Given the description of an element on the screen output the (x, y) to click on. 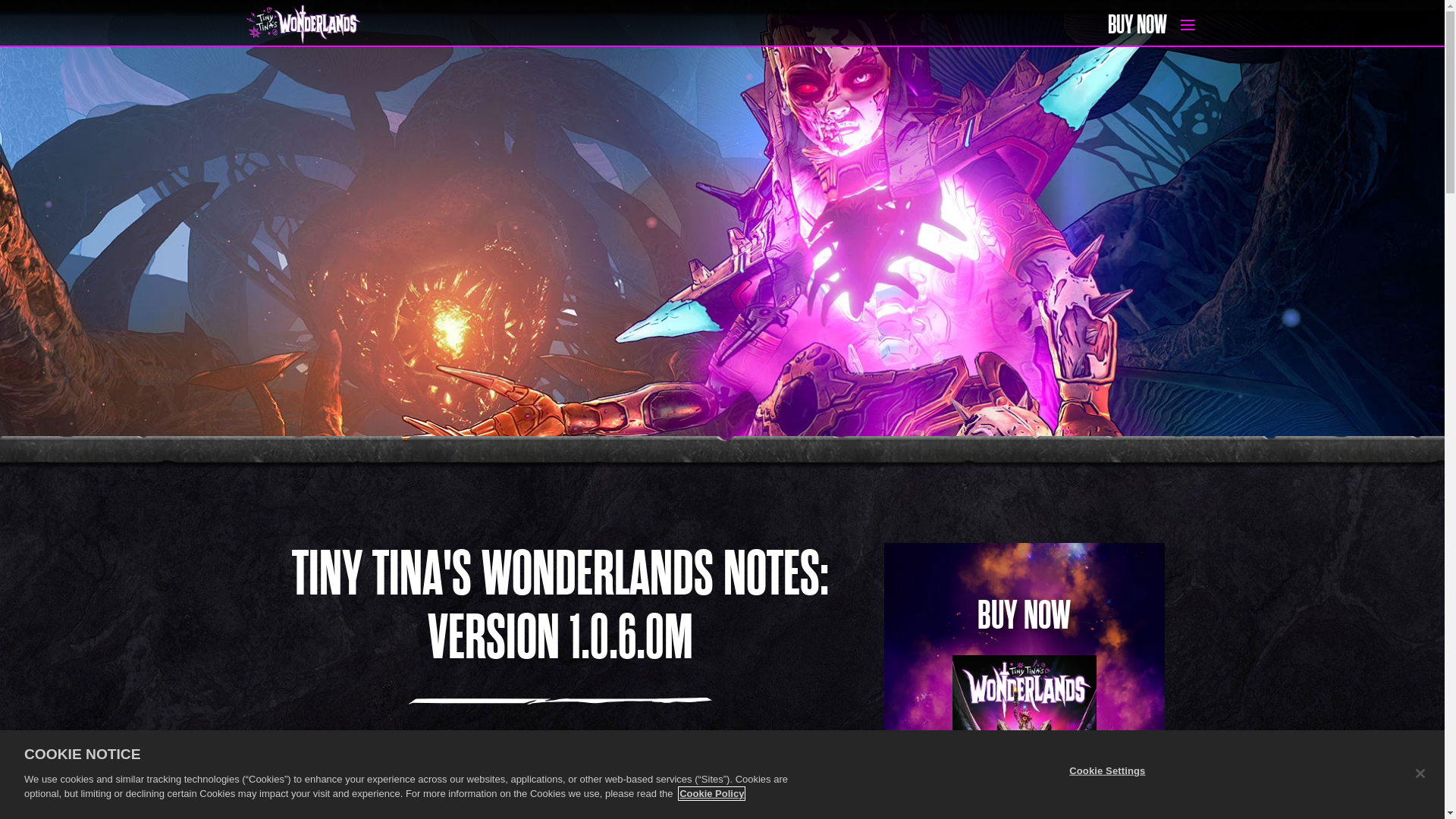
Cookie Settings Element type: text (1107, 770)
Cookie Policy Element type: text (711, 793)
Home Element type: hover (466, 25)
BUY NOW Element type: text (1136, 24)
